Given the description of an element on the screen output the (x, y) to click on. 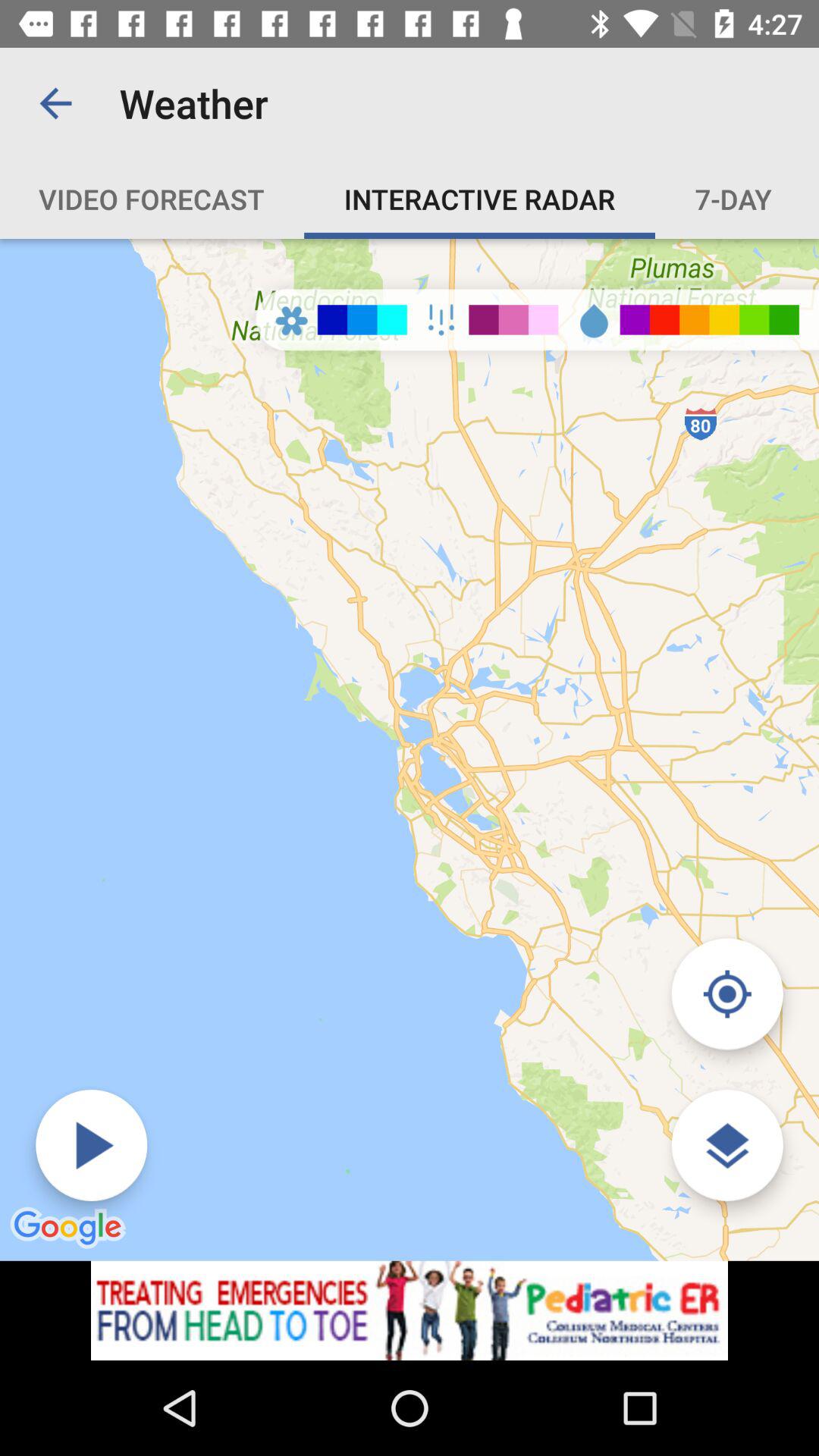
go to pay option (91, 1145)
